Given the description of an element on the screen output the (x, y) to click on. 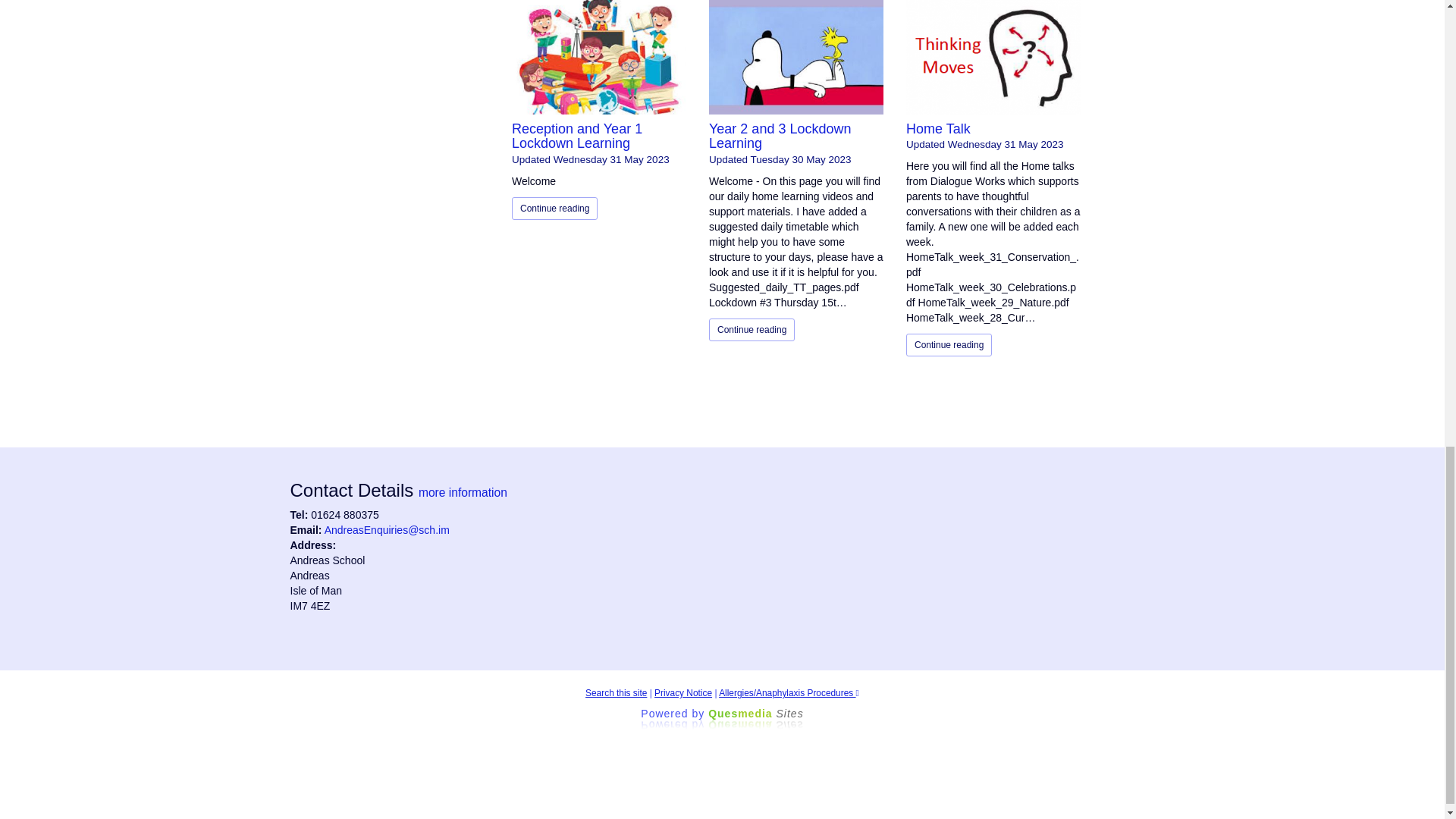
Continue reading (554, 208)
Year 2 and 3 Lockdown Learning (779, 136)
Home Talk (938, 128)
Continue reading (948, 344)
Continue reading (751, 329)
more information (462, 492)
Can't find what you're looking for, try a search (615, 692)
Reception and Year 1 Lockdown Learning (577, 136)
View our Privacy Notice (682, 692)
